Given the description of an element on the screen output the (x, y) to click on. 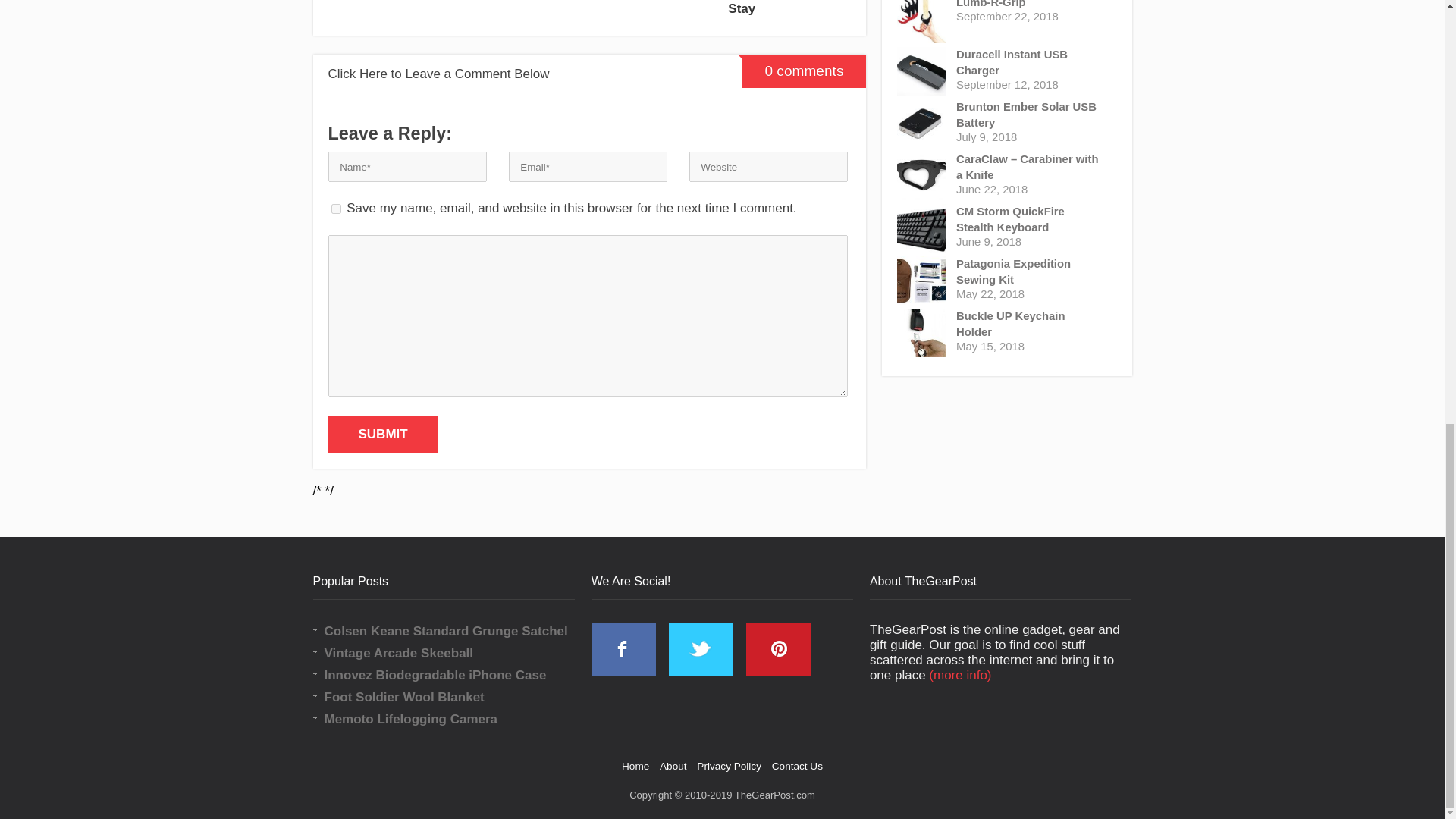
Buckle UP Keychain Holder (1029, 324)
Patagonia Expedition Sewing Kit (1029, 272)
Vintage Arcade Skeeball (455, 653)
SUBMIT (382, 434)
yes (335, 208)
Foot Soldier Wool Blanket (455, 697)
Duracell Instant USB Charger (1029, 62)
Colsen Keane Standard Grunge Satchel (455, 631)
Lumb-R-Grip (1029, 5)
Innovez Biodegradable iPhone Case (455, 675)
